Given the description of an element on the screen output the (x, y) to click on. 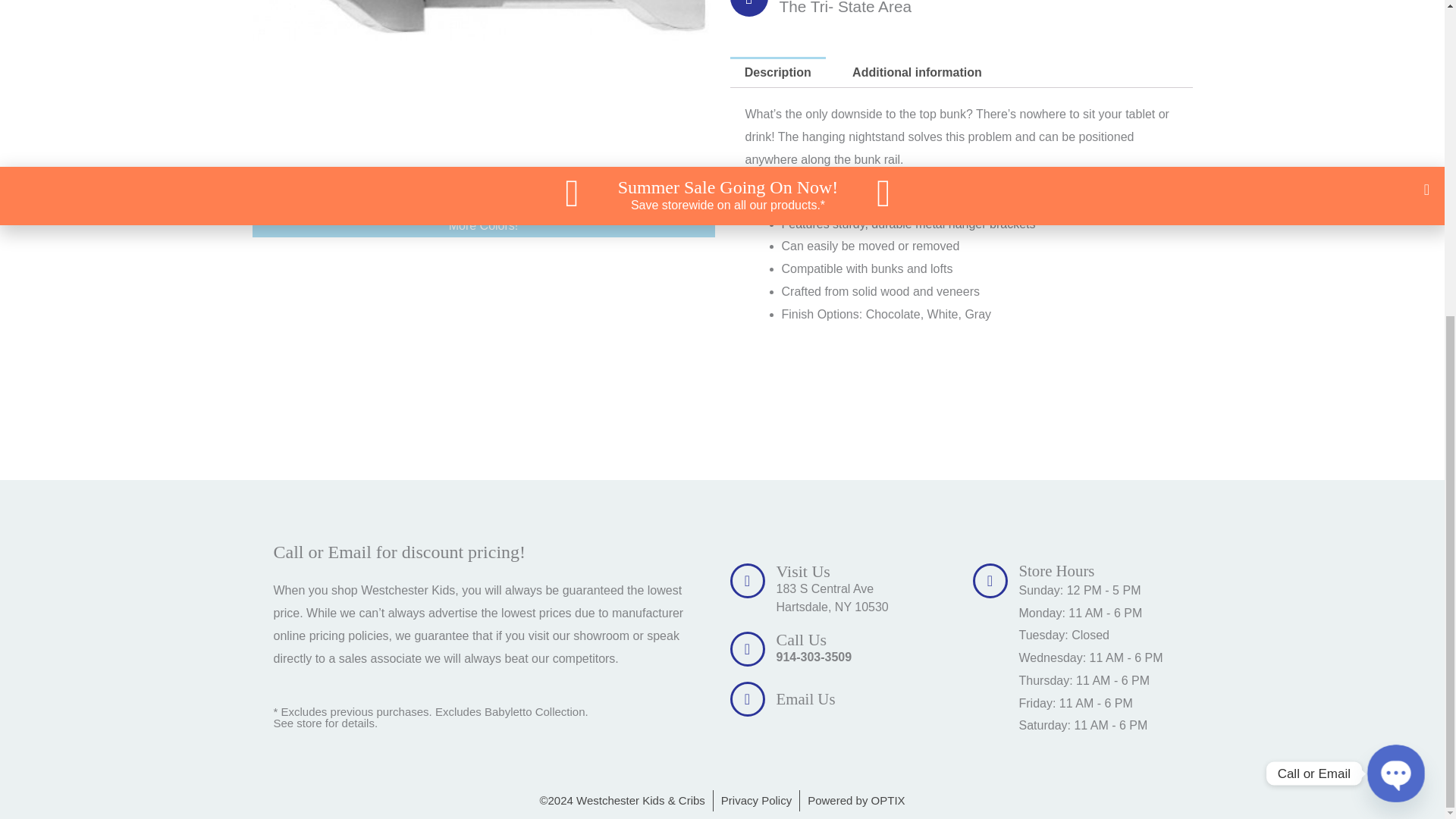
Schoolhouse 4.0 Hanging Nightstand Tray (482, 106)
